Given the description of an element on the screen output the (x, y) to click on. 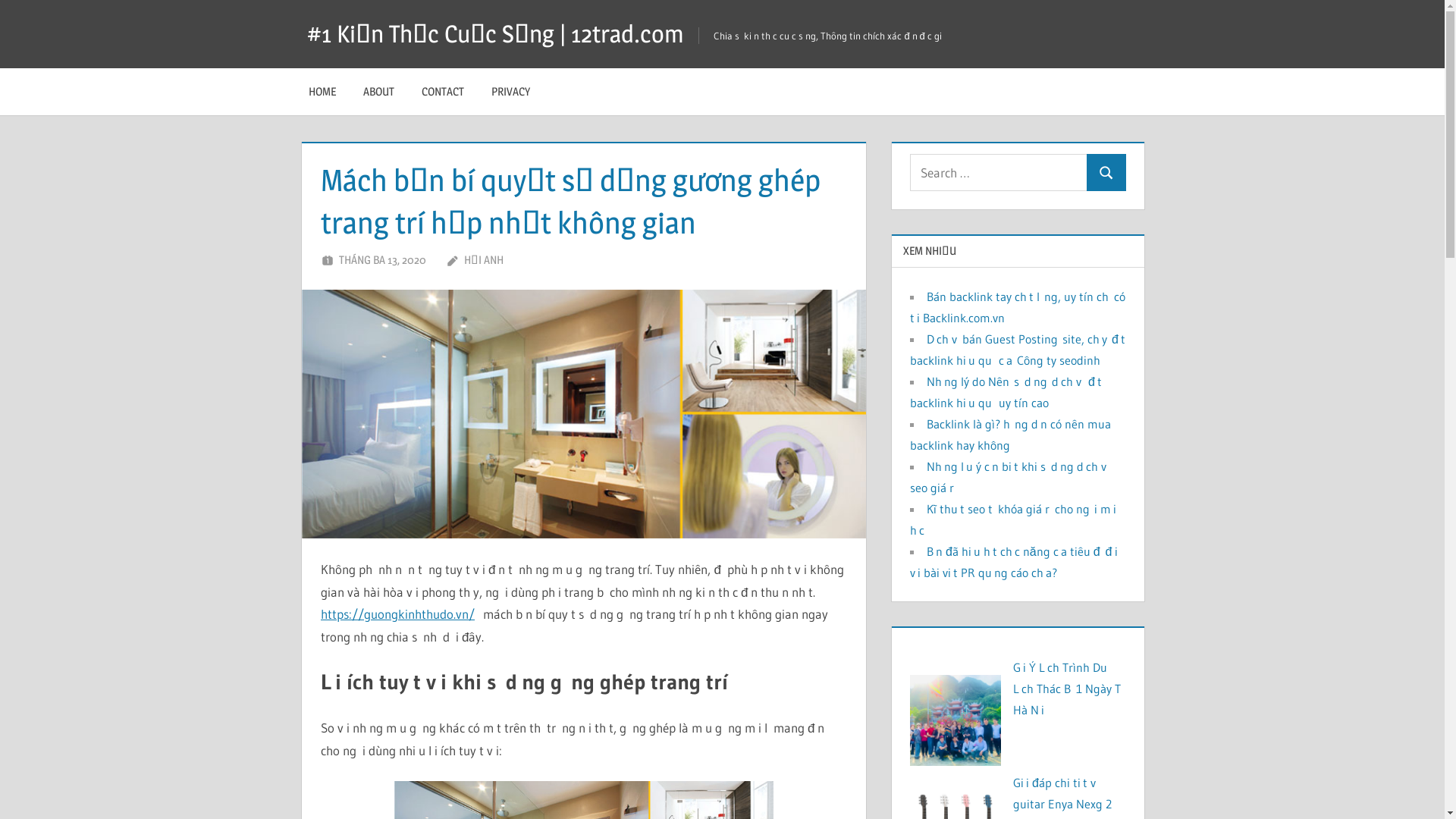
https://guongkinhthudo.vn/ Element type: text (397, 613)
HOME Element type: text (321, 91)
ABOUT Element type: text (378, 91)
CONTACT Element type: text (442, 91)
Search for: Element type: hover (998, 172)
PRIVACY Element type: text (510, 91)
